Given the description of an element on the screen output the (x, y) to click on. 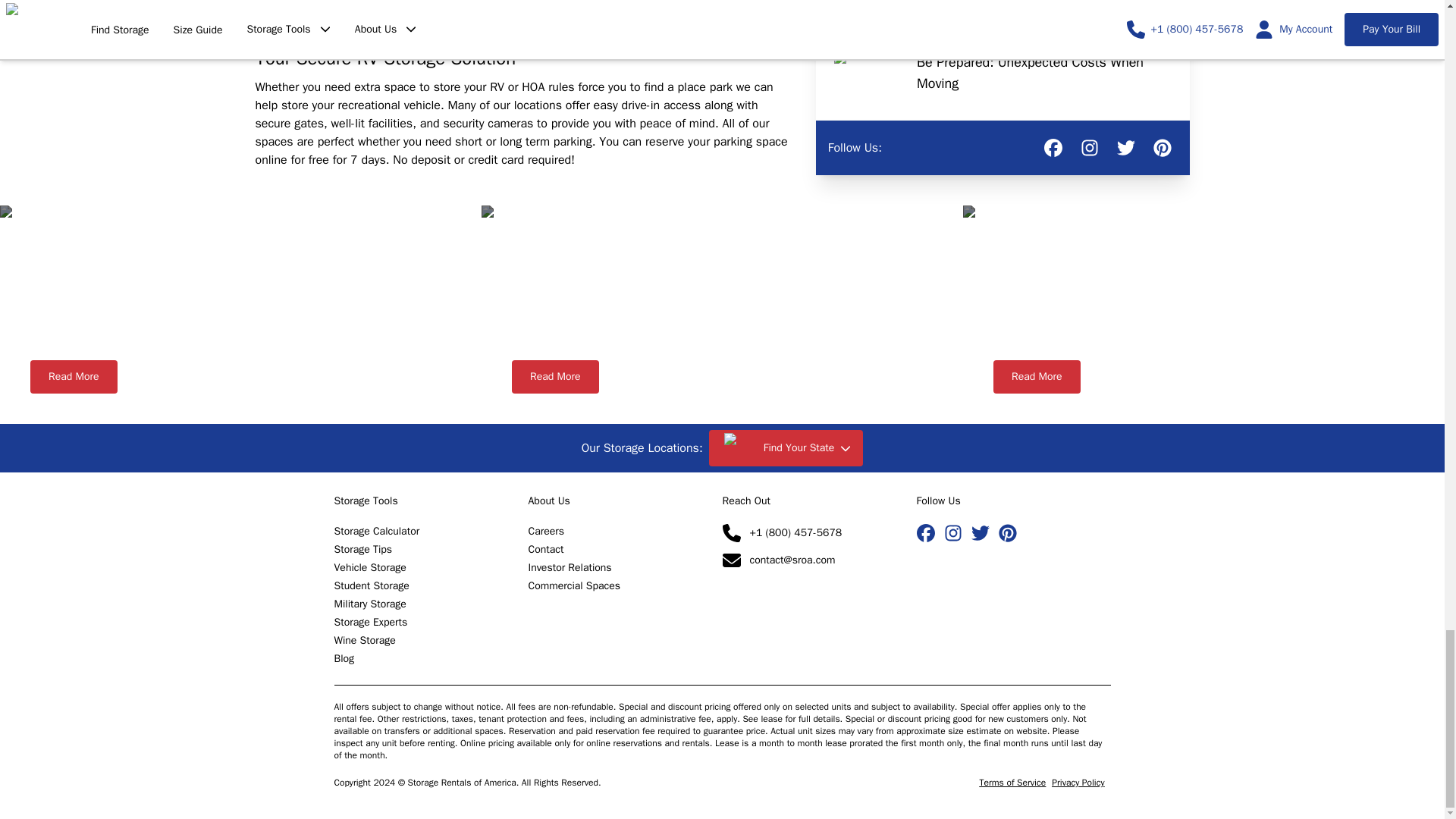
Careers (545, 530)
Commercial Spaces (573, 585)
Student Storage (371, 585)
Vehicle Storage (369, 567)
Read More (555, 376)
Contact (545, 549)
Investor Relations (569, 567)
Storage Experts (370, 621)
Read More (73, 376)
Read More (1036, 376)
Military Storage (369, 603)
Wine Storage (363, 640)
Storage Calculator (376, 530)
Blog (343, 658)
Storage Tips (362, 549)
